Given the description of an element on the screen output the (x, y) to click on. 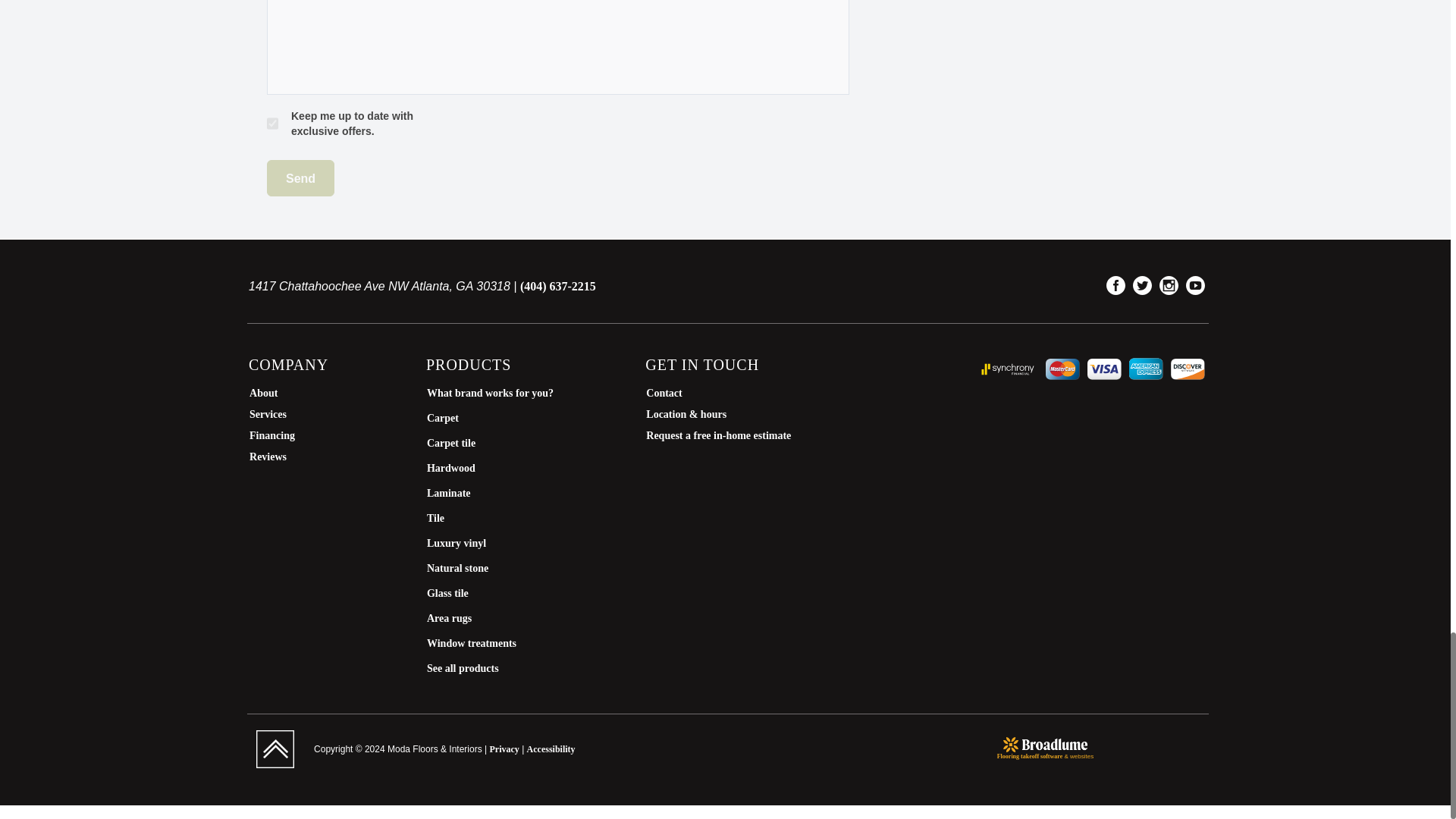
Send (300, 177)
Twitter (1141, 285)
Facebook (1115, 285)
Keep me up to date with exclusive offers. (272, 123)
